Given the description of an element on the screen output the (x, y) to click on. 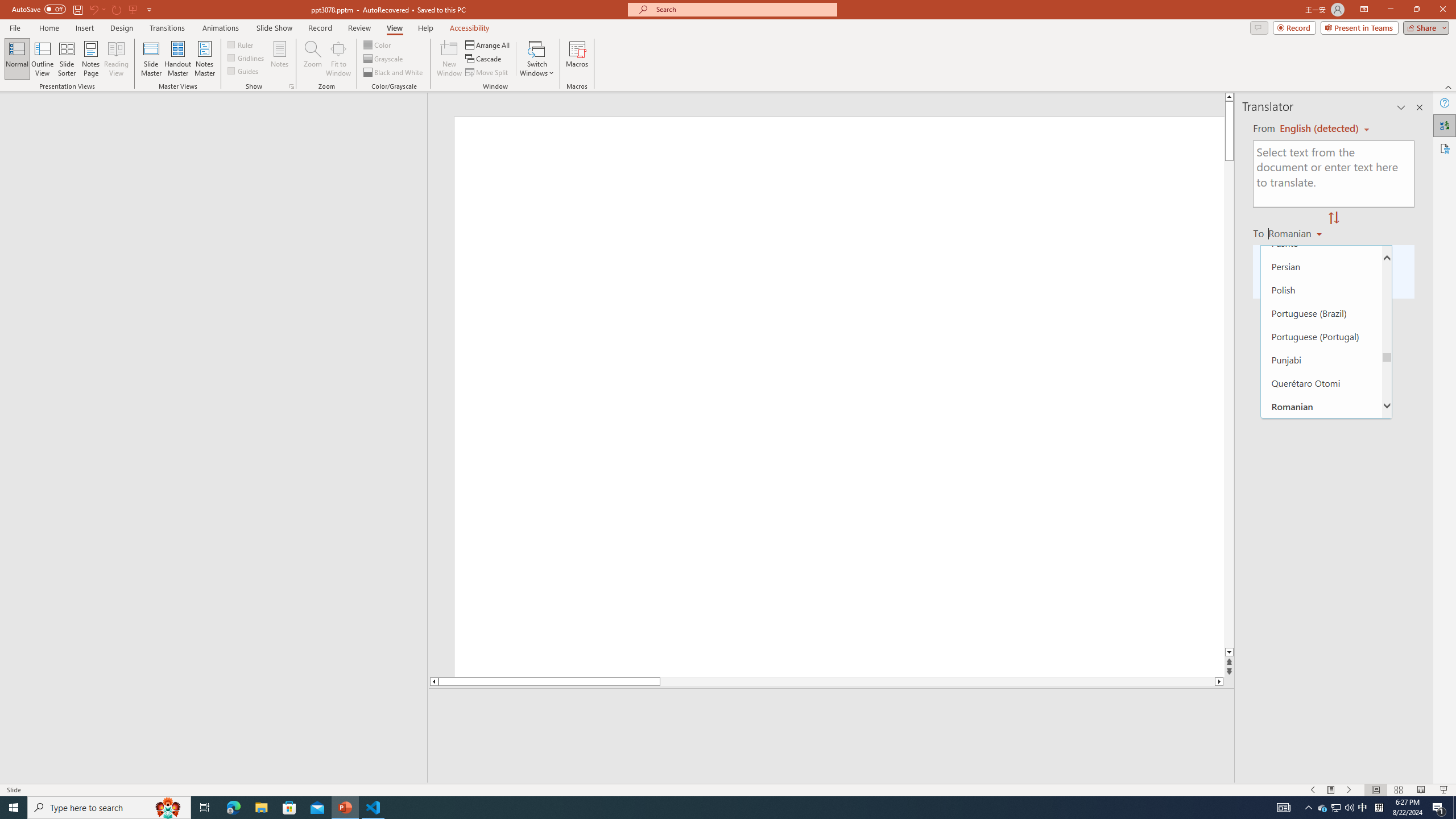
Portuguese (Brazil) (1320, 313)
